Given the description of an element on the screen output the (x, y) to click on. 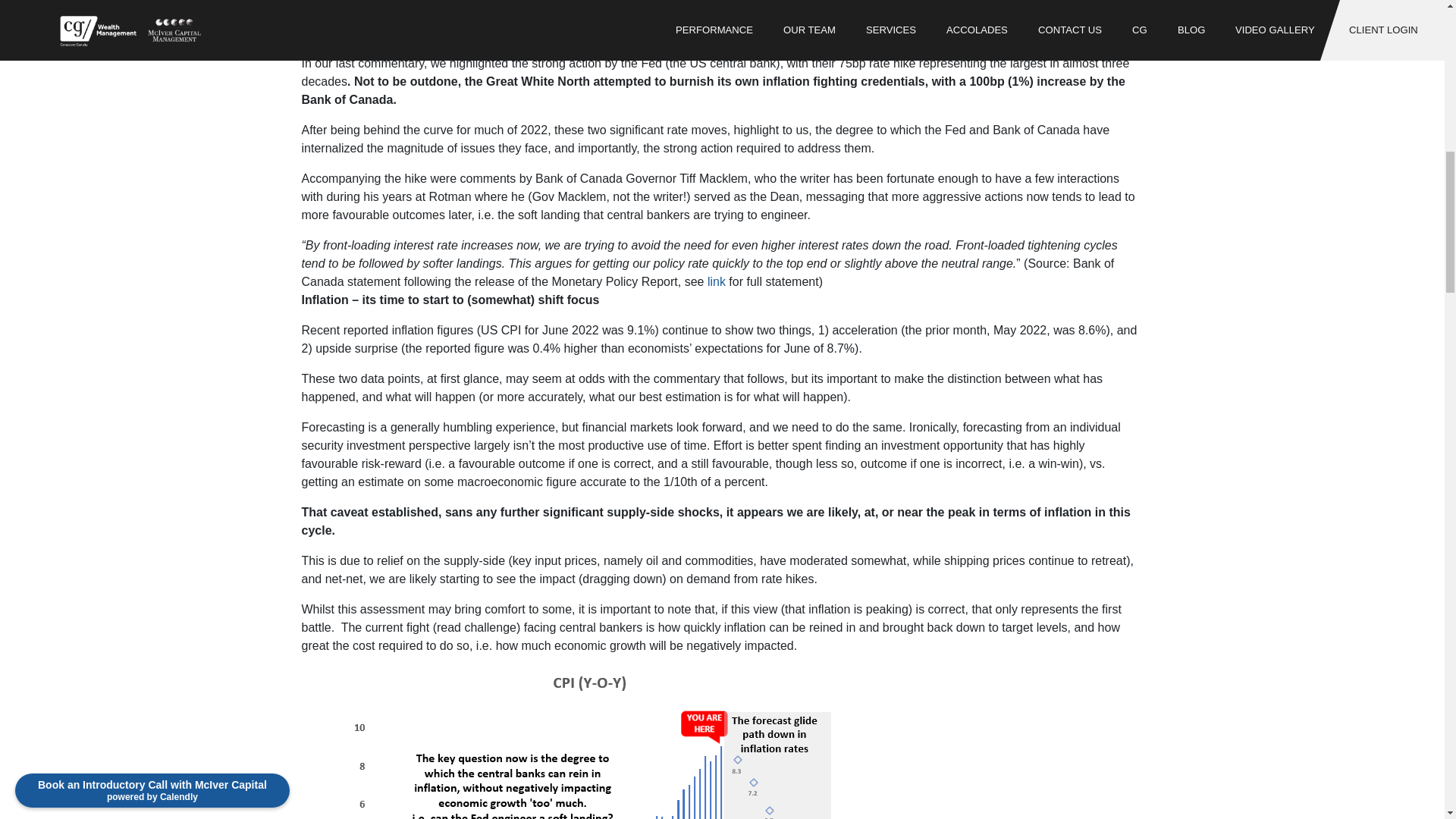
link (716, 281)
link  (716, 281)
